Given the description of an element on the screen output the (x, y) to click on. 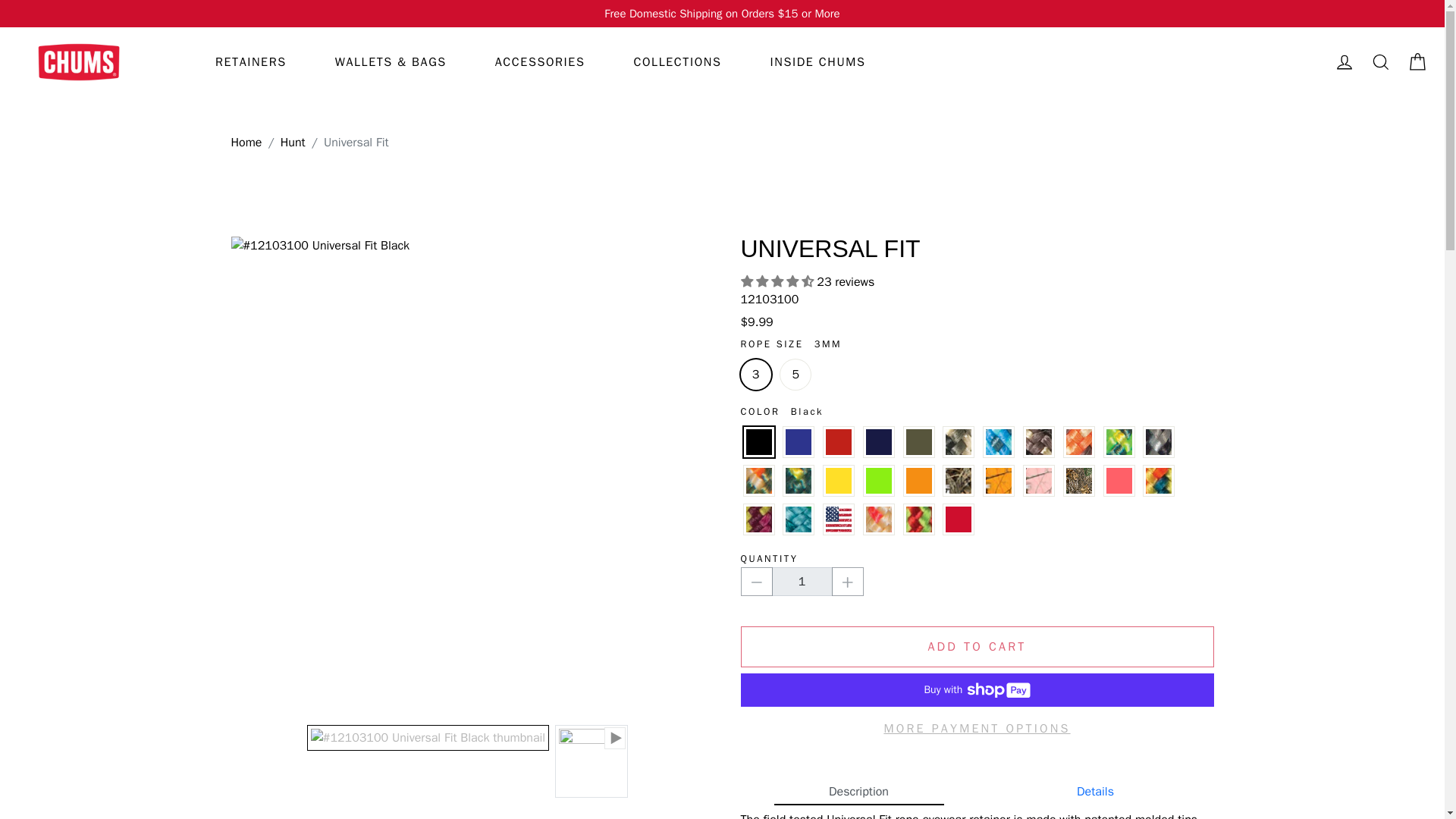
Brown, Black and White   (1038, 441)
COLLECTIONS (676, 62)
Black   (757, 441)
Royal   (798, 441)
Back to the frontpage (246, 142)
